Given the description of an element on the screen output the (x, y) to click on. 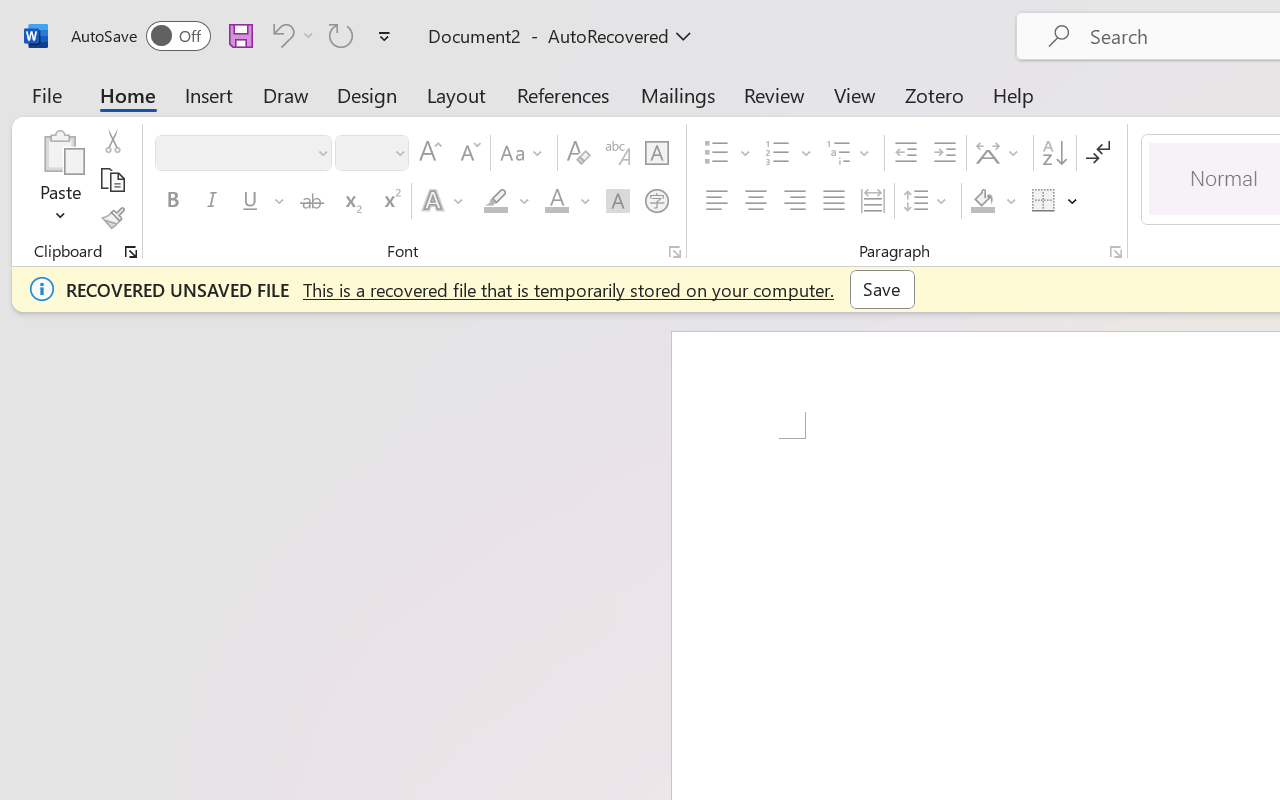
Distributed (872, 201)
Align Left (716, 201)
Clear Formatting (578, 153)
Enclose Characters... (656, 201)
Text Effects and Typography (444, 201)
Character Border (656, 153)
Can't Repeat (341, 35)
Phonetic Guide... (618, 153)
Increase Indent (944, 153)
Sort... (1054, 153)
